Given the description of an element on the screen output the (x, y) to click on. 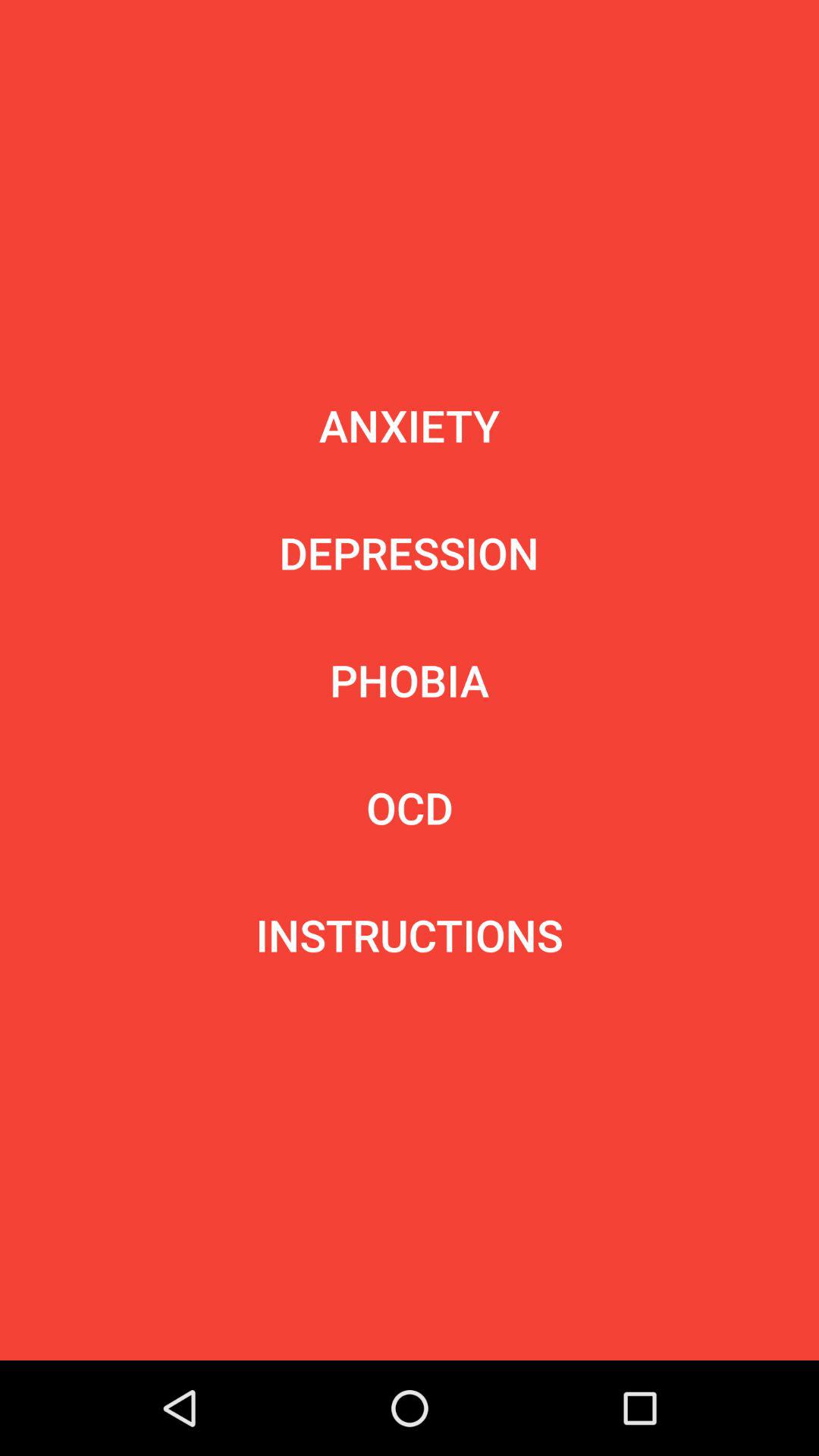
click ocd (409, 807)
